Given the description of an element on the screen output the (x, y) to click on. 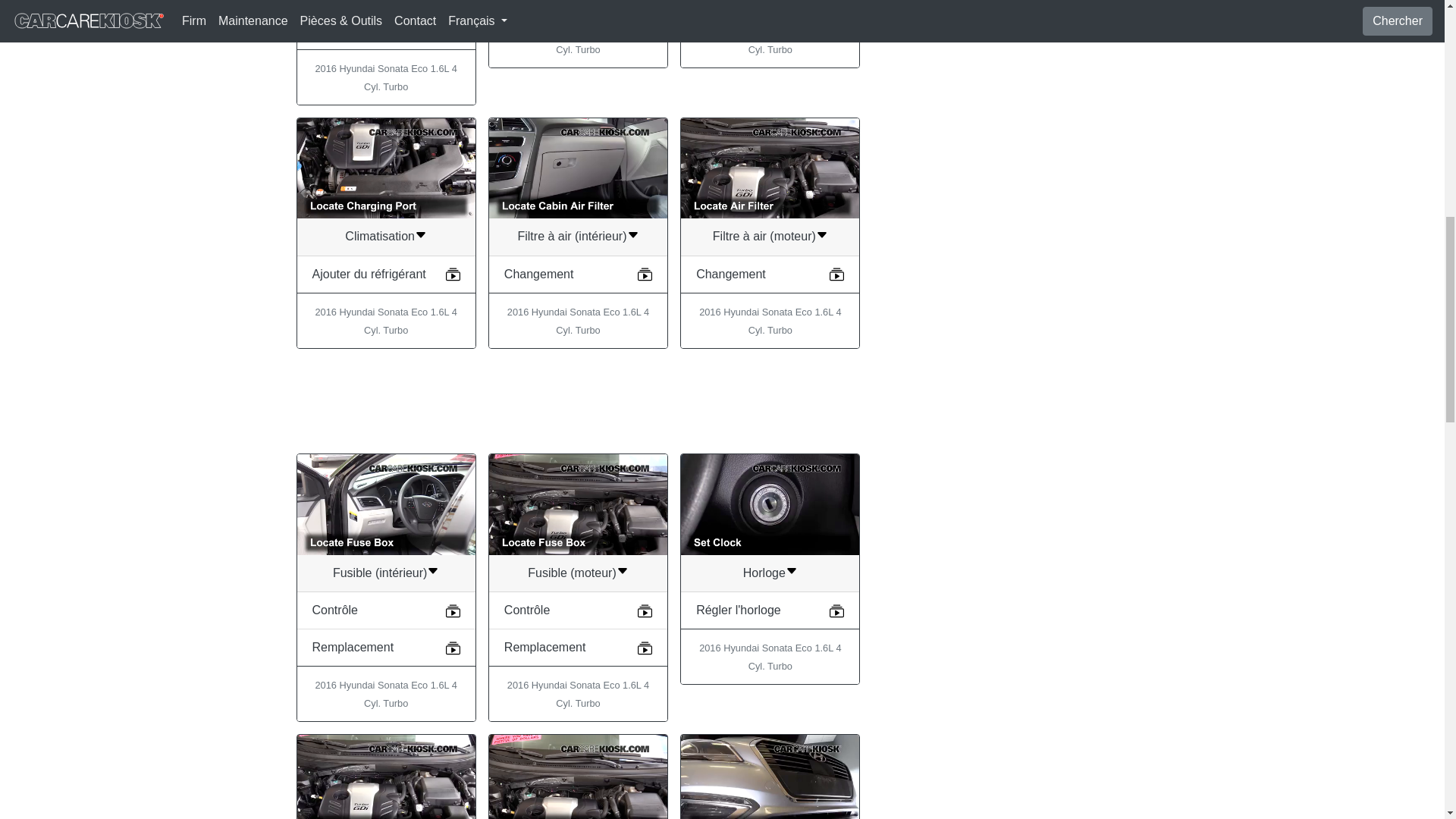
3rd party ad content (577, 400)
Climatisation (385, 236)
